Given the description of an element on the screen output the (x, y) to click on. 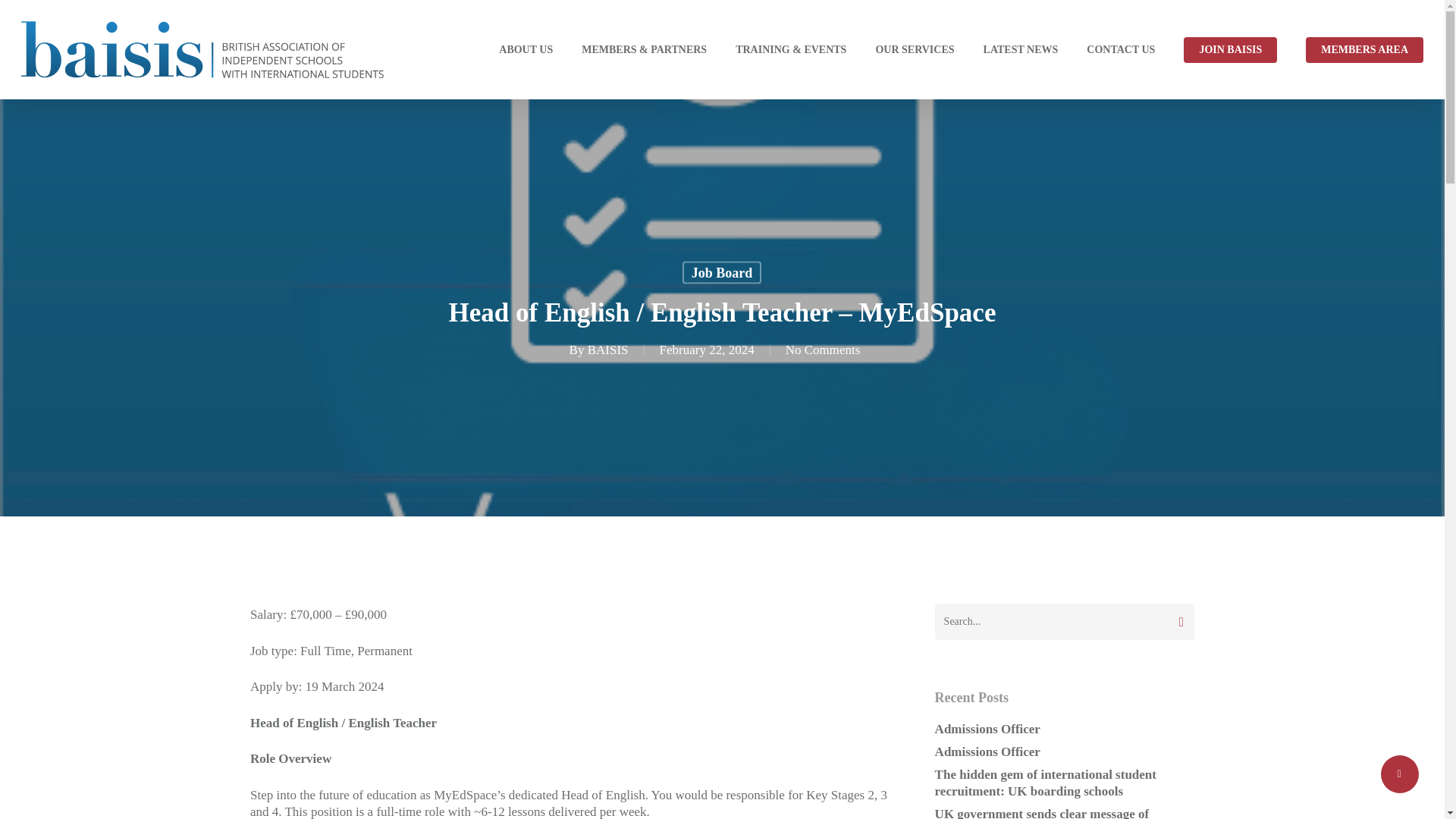
JOIN BAISIS (1229, 49)
Posts by BAISIS (608, 350)
CONTACT US (1120, 49)
No Comments (823, 350)
Admissions Officer (1063, 751)
OUR SERVICES (914, 49)
ABOUT US (525, 49)
MEMBERS AREA (1364, 49)
BAISIS (608, 350)
Job Board (721, 272)
